Given the description of an element on the screen output the (x, y) to click on. 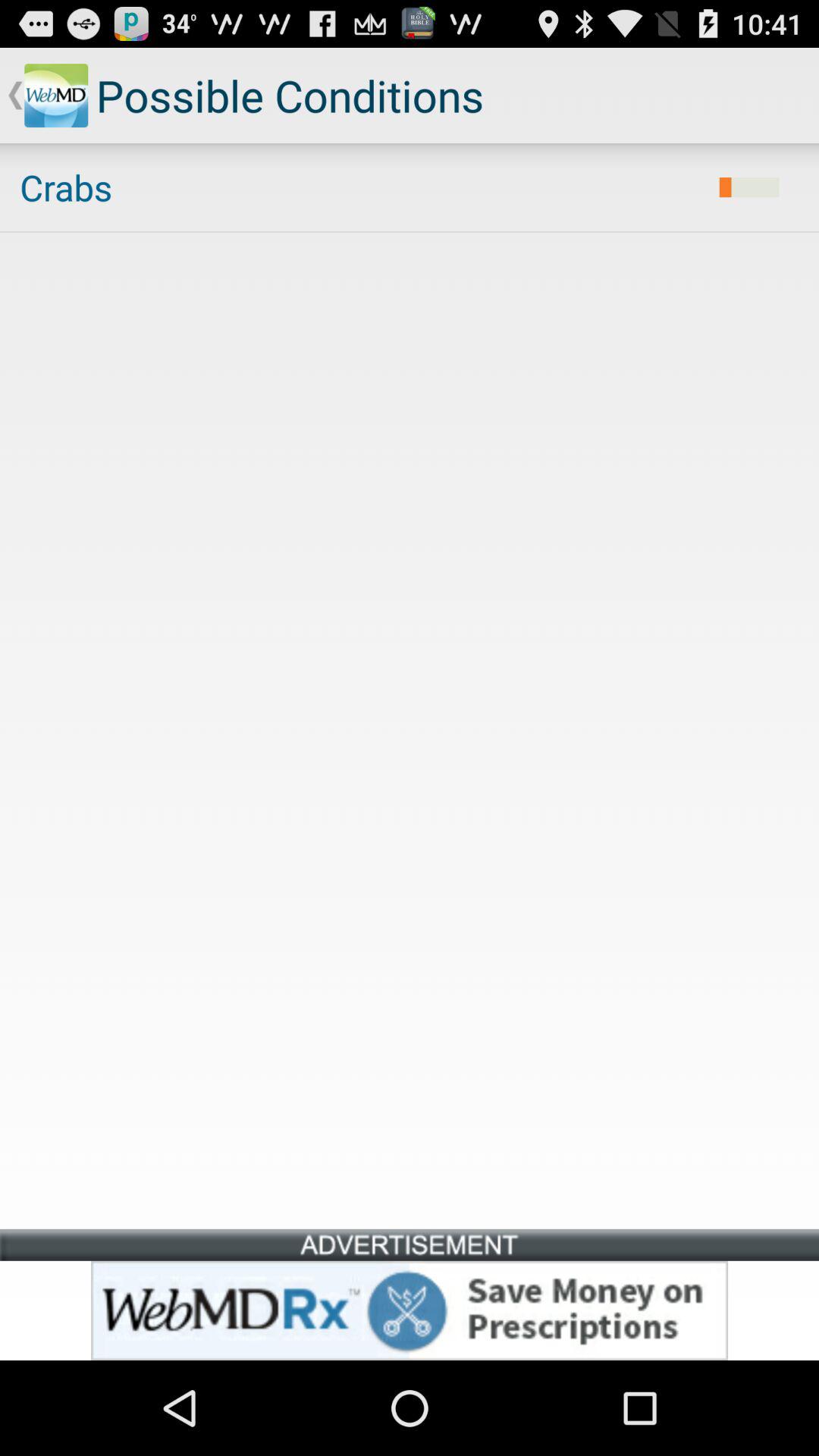
tap item next to the crabs item (749, 187)
